Given the description of an element on the screen output the (x, y) to click on. 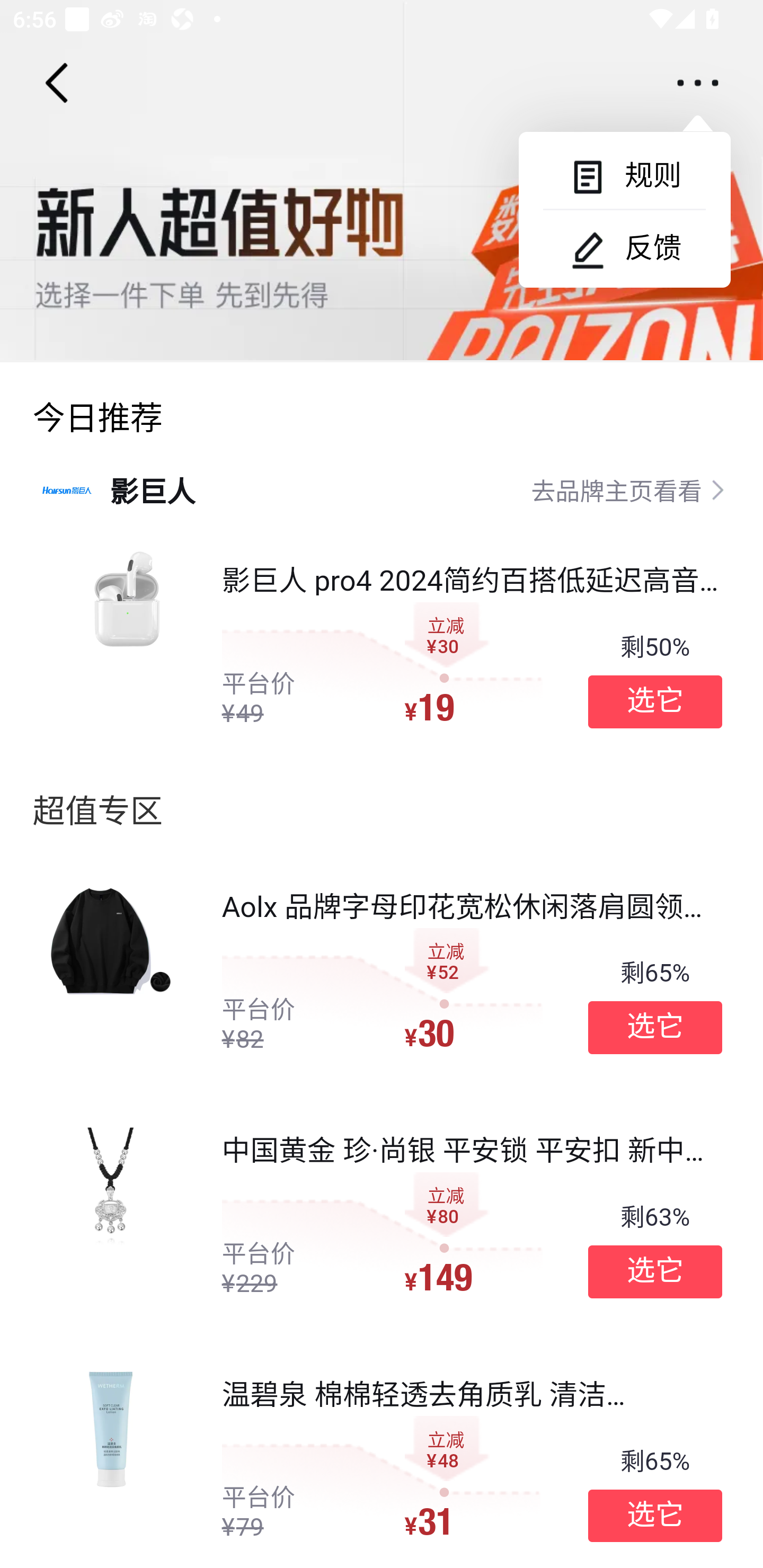
规则 (624, 176)
反馈 (624, 248)
影巨人去品牌主页看看 (381, 489)
选它 (654, 701)
选它 (654, 1027)
选它 (654, 1271)
选它 (654, 1515)
